Given the description of an element on the screen output the (x, y) to click on. 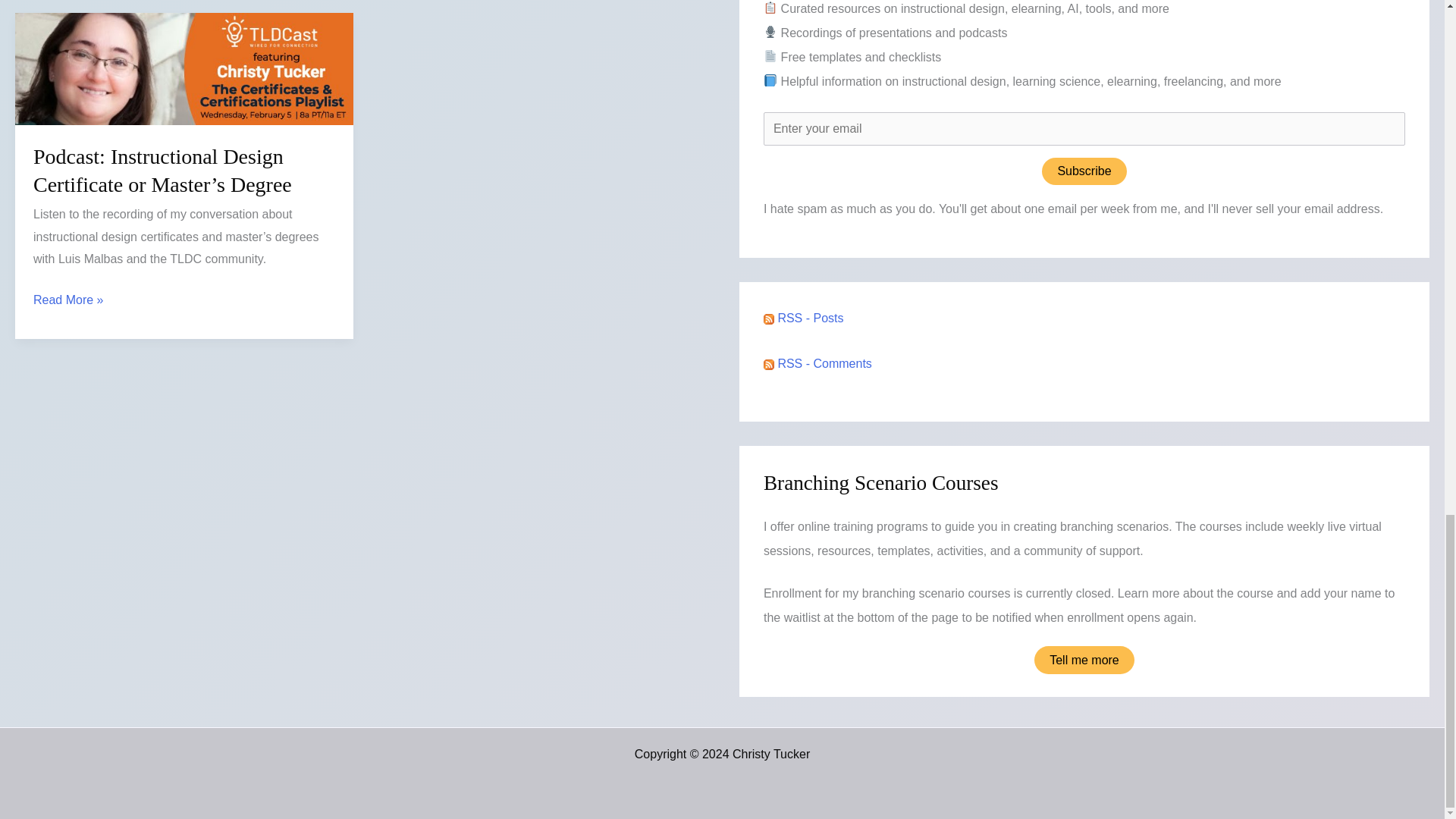
Enter your email (1083, 128)
Subscribe to posts (803, 318)
Subscribe to comments (817, 363)
